Given the description of an element on the screen output the (x, y) to click on. 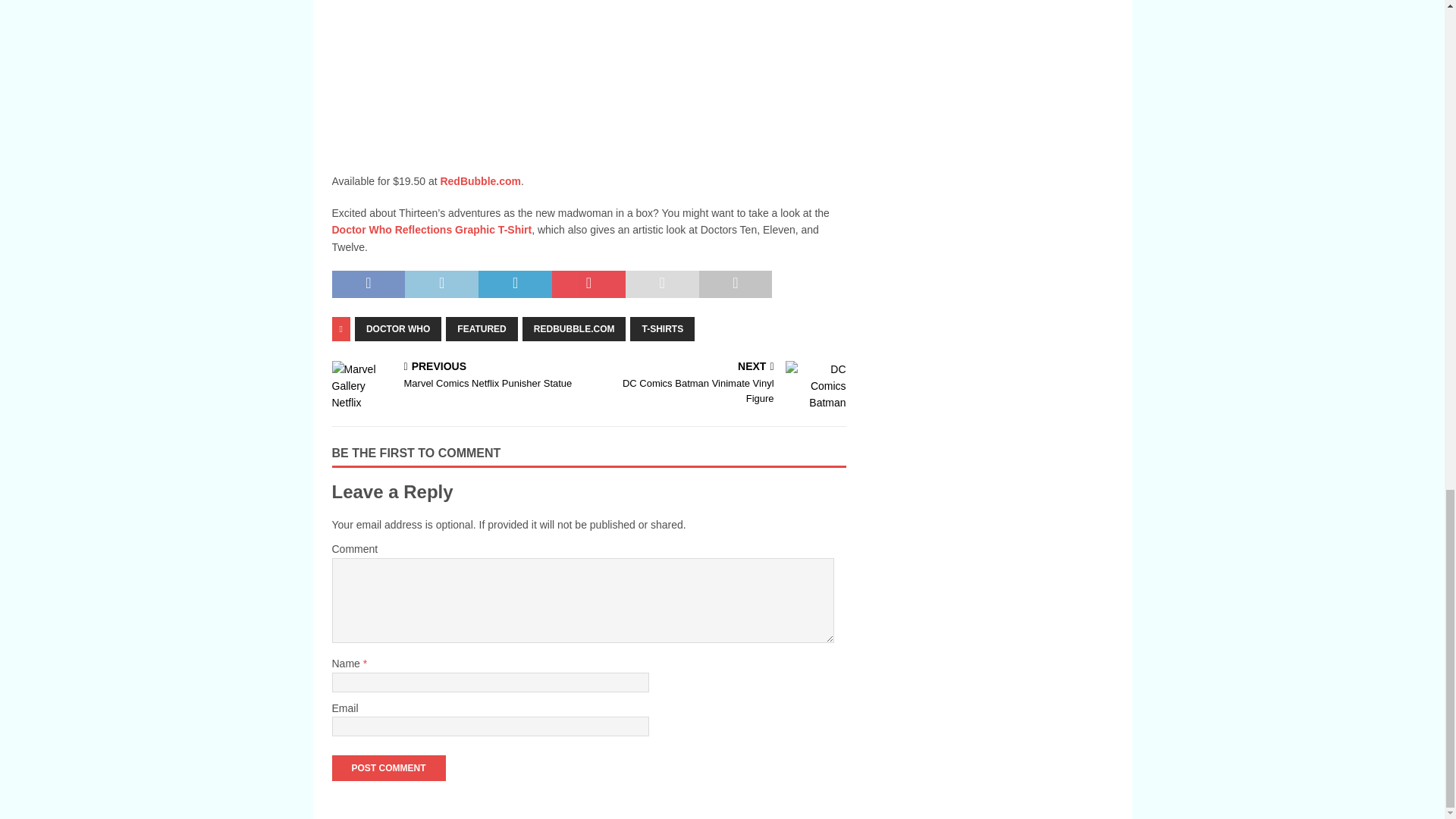
Post Comment (388, 768)
